Given the description of an element on the screen output the (x, y) to click on. 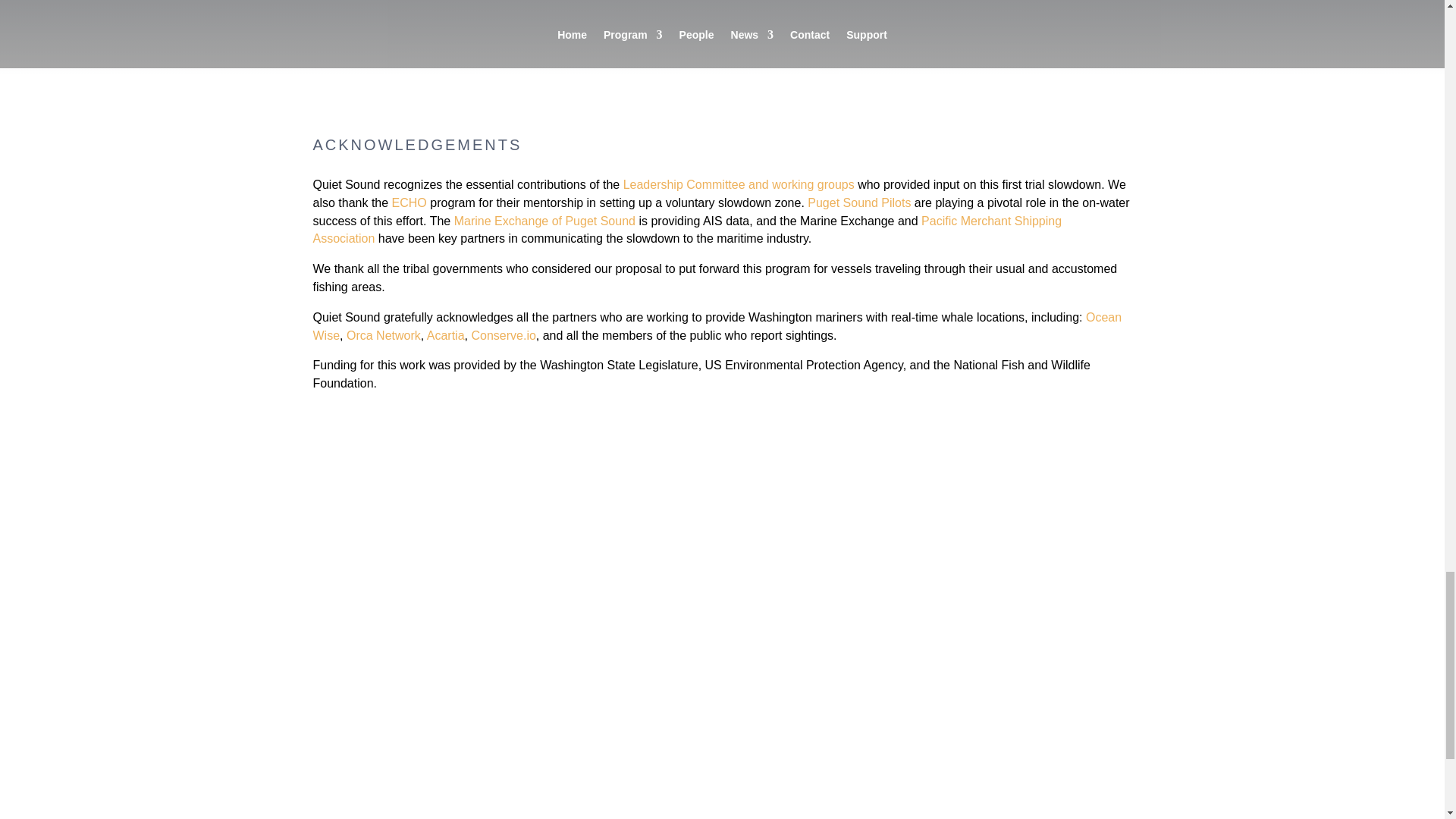
Puget Sound Pilots (861, 202)
ECHO (408, 202)
Conserve.io (502, 335)
Acartia (445, 335)
Orca Network (383, 335)
Marine Exchange of Puget Sound (544, 220)
Leadership Committee and working groups (738, 184)
Pacific Merchant Shipping Association (687, 229)
Ocean Wise (717, 326)
